Given the description of an element on the screen output the (x, y) to click on. 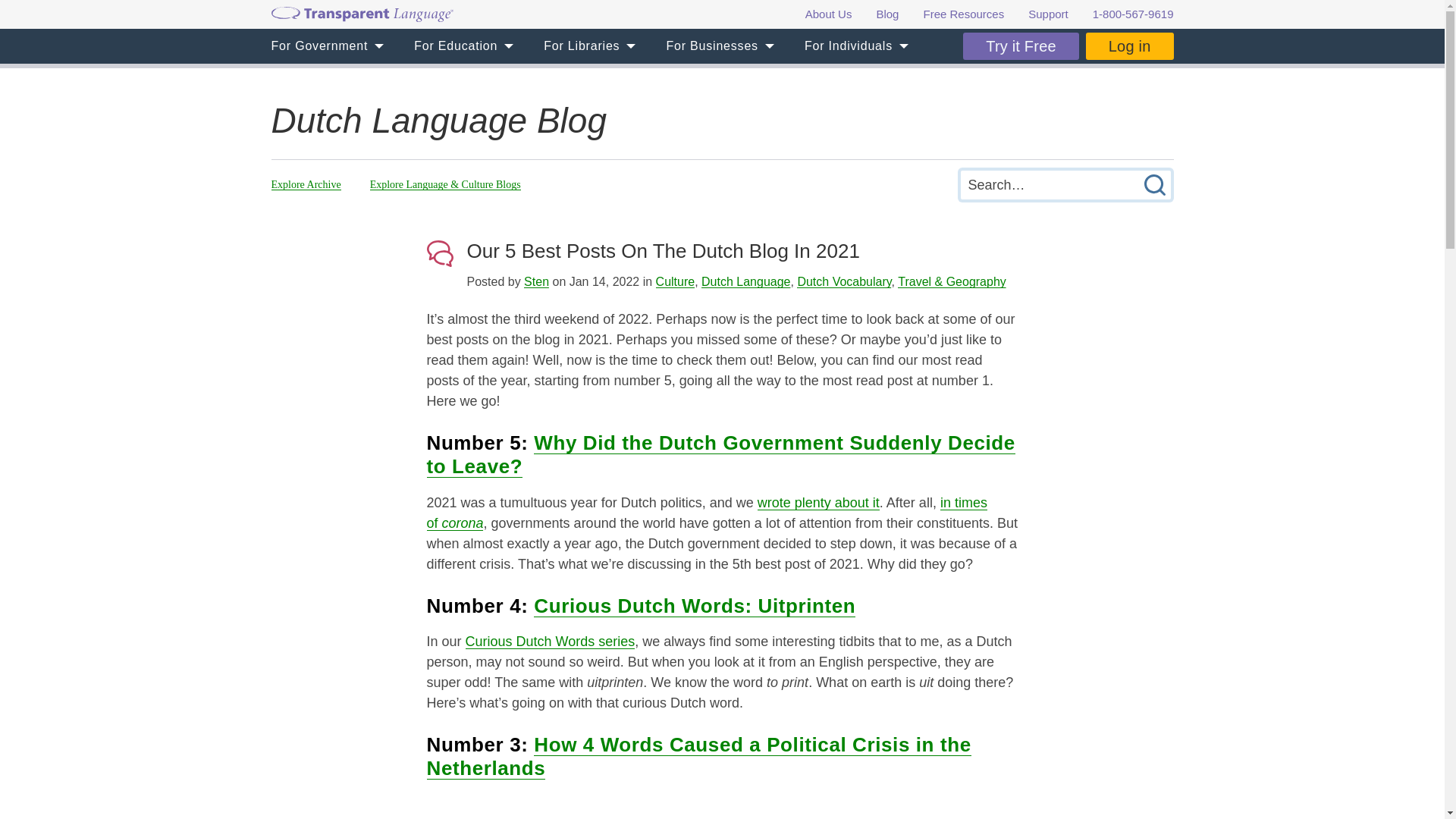
Posts by Sten (536, 281)
Submit Search (1153, 184)
